Given the description of an element on the screen output the (x, y) to click on. 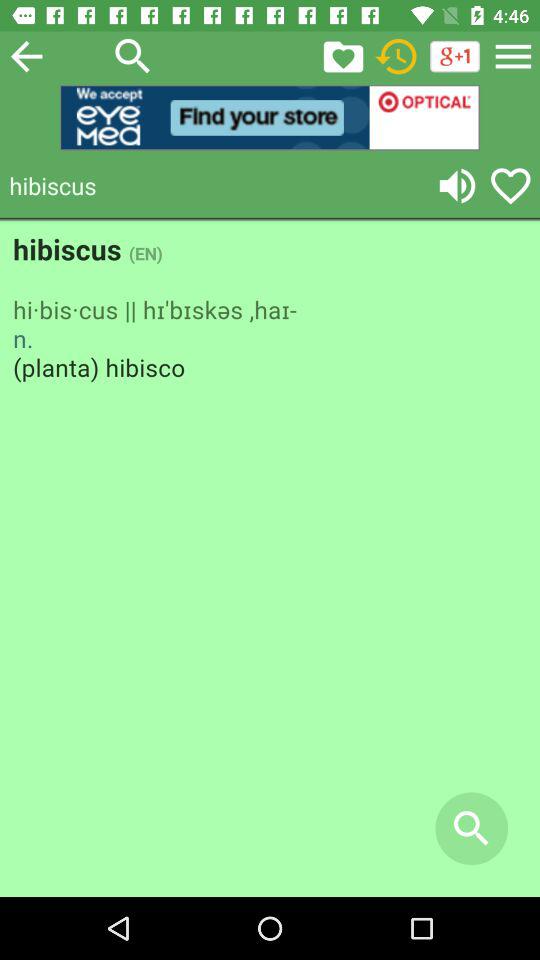
add to favorites (510, 185)
